Given the description of an element on the screen output the (x, y) to click on. 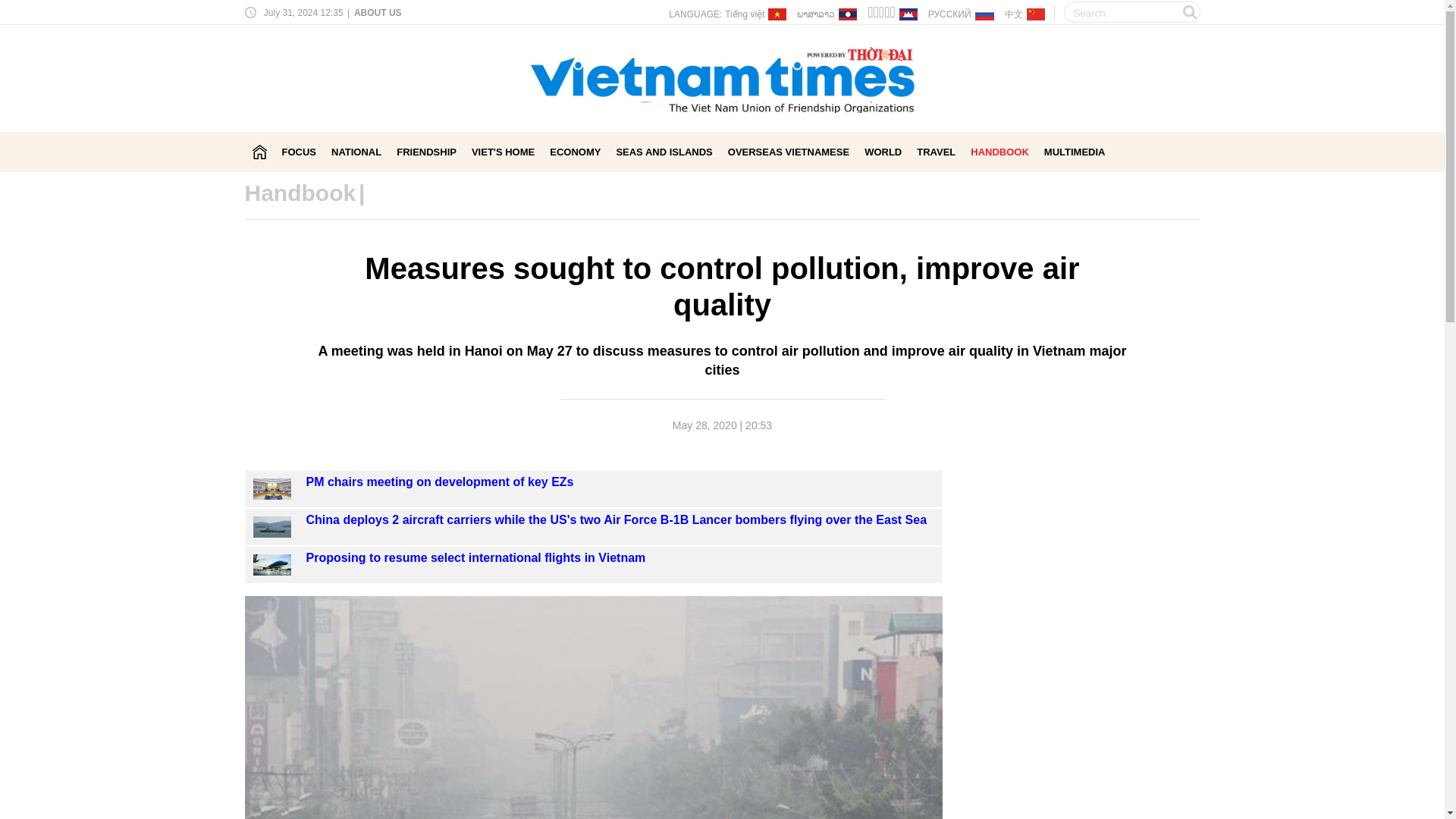
PM chairs meeting on development of key EZs (439, 481)
ECONOMY (574, 152)
VIET'S HOME (502, 152)
MULTIMEDIA (1074, 152)
OVERSEAS VIETNAMESE (788, 152)
Measures sought to control pollution, improve air quality (272, 566)
Measures sought to control pollution, improve air quality (272, 489)
ABOUT US (376, 12)
PM chairs meeting on development of key EZs (272, 488)
TRAVEL (936, 152)
Handbook (299, 192)
